Given the description of an element on the screen output the (x, y) to click on. 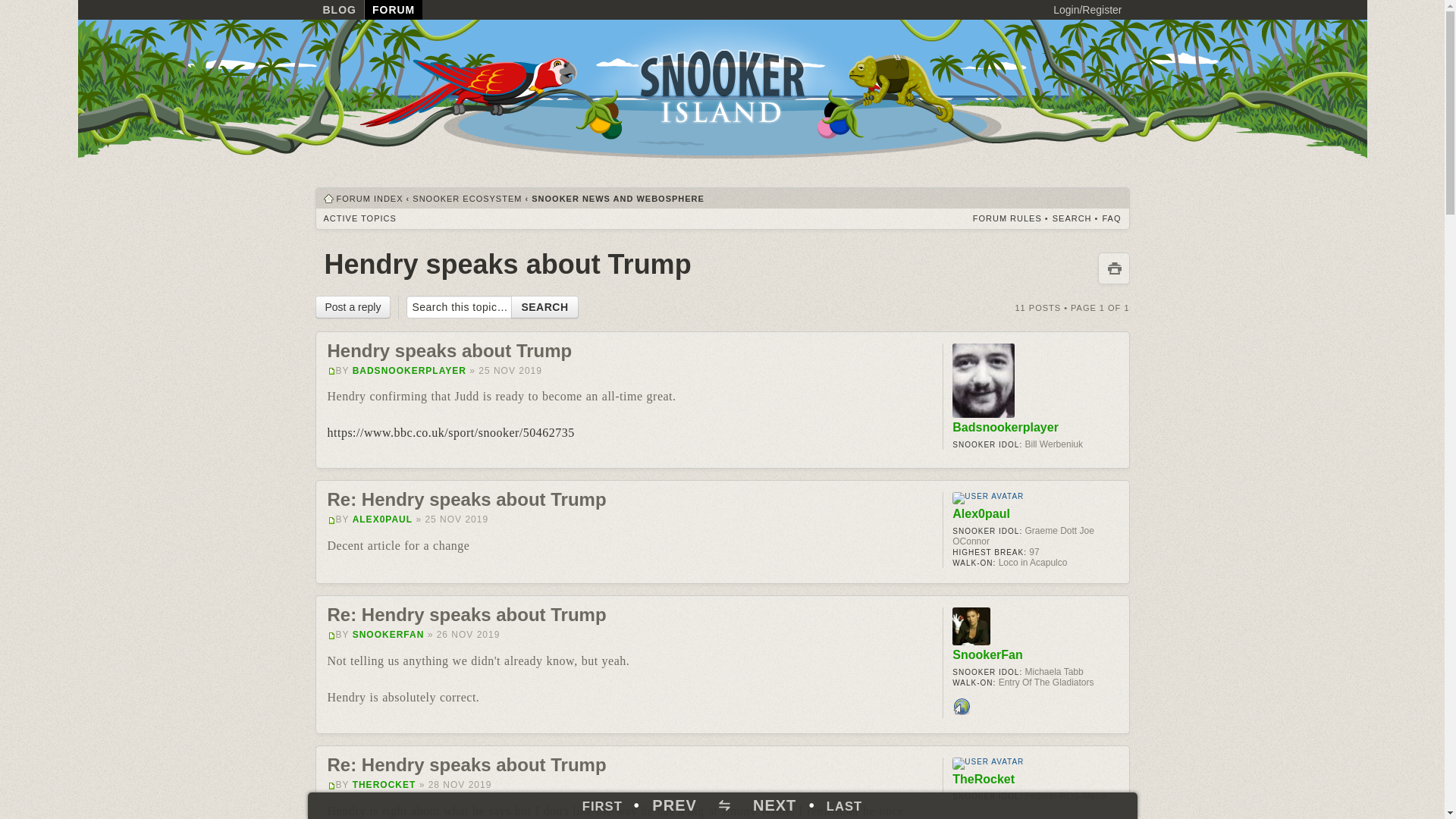
Alex0paul (981, 513)
BLOG (339, 9)
Re: Hendry speaks about Trump (467, 498)
Badsnookerplayer (1005, 427)
FORUM (393, 9)
Post (331, 785)
SNOOKER NEWS AND WEBOSPHERE (617, 198)
Hendry speaks about Trump (507, 264)
Post (331, 635)
ACTIVE TOPICS (359, 217)
BADSNOOKERPLAYER (408, 370)
Post (331, 370)
FIRST (601, 806)
Post a reply (353, 306)
Search (544, 306)
